Given the description of an element on the screen output the (x, y) to click on. 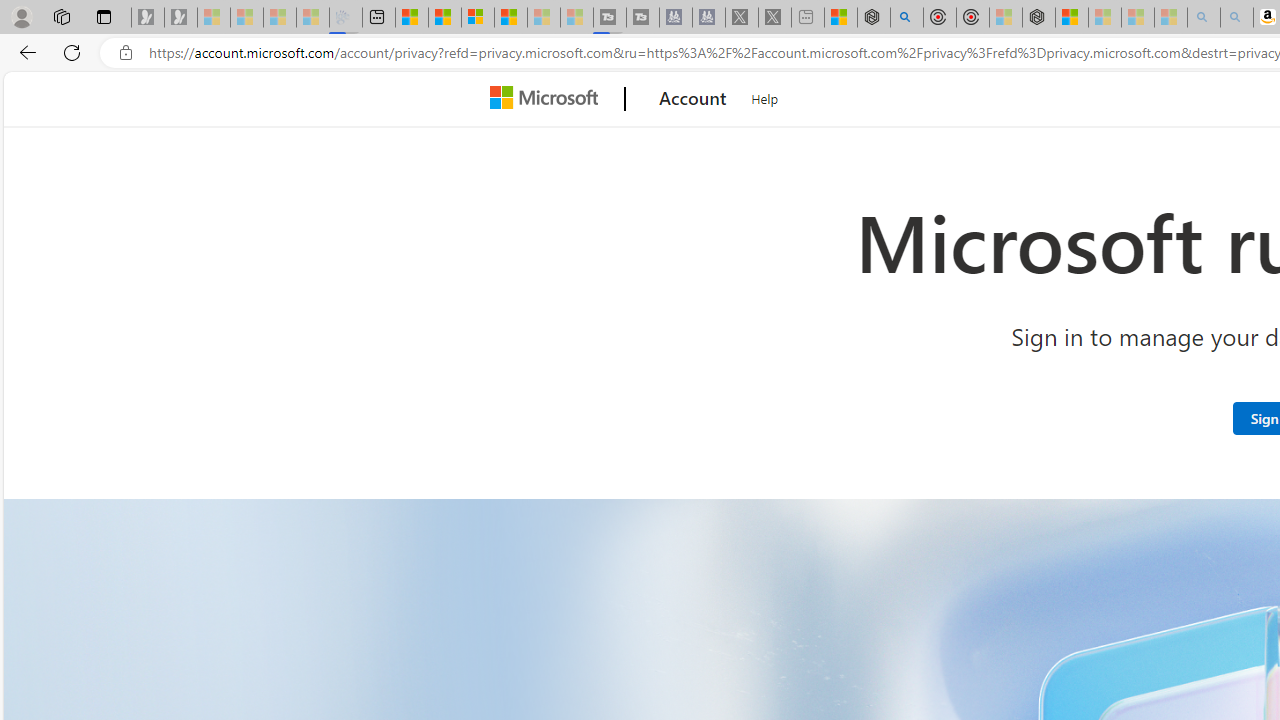
Help (765, 96)
Nordace - Nordace Siena Is Not An Ordinary Backpack (1038, 17)
Account (692, 99)
